Given the description of an element on the screen output the (x, y) to click on. 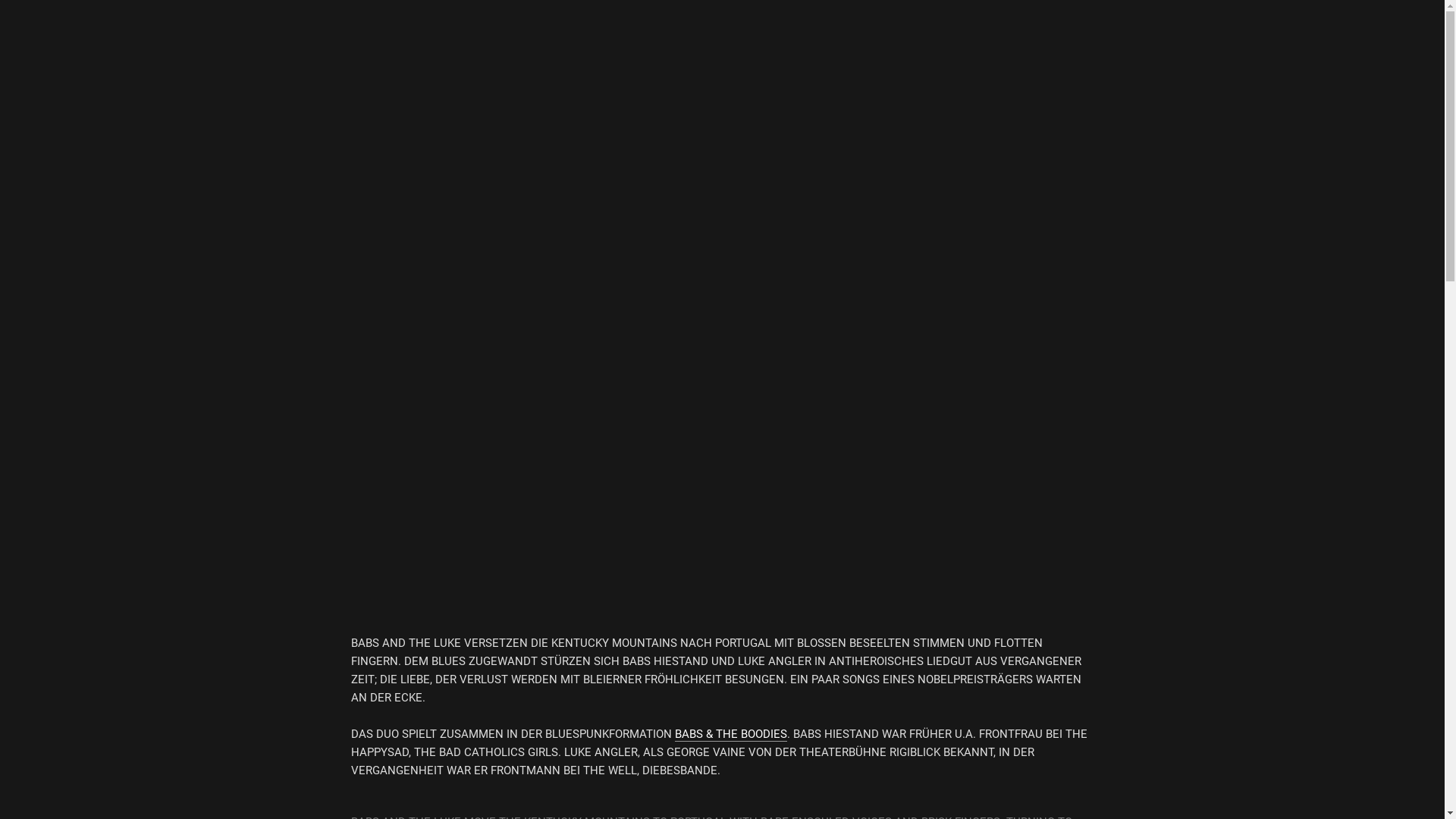
BABS & THE BOODIES Element type: text (730, 734)
